Given the description of an element on the screen output the (x, y) to click on. 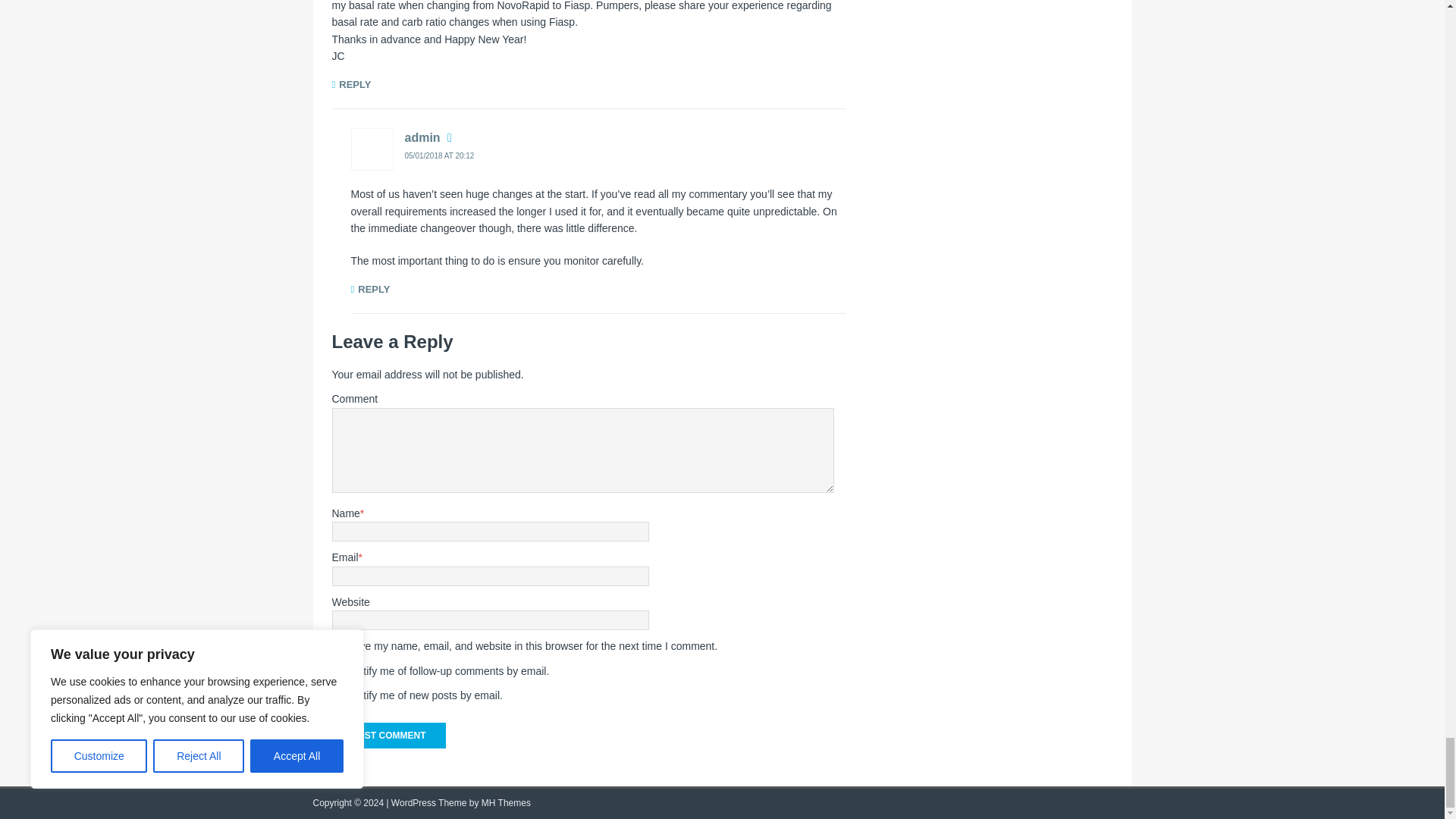
subscribe (339, 671)
Post Comment (388, 735)
subscribe (339, 696)
yes (339, 646)
